Given the description of an element on the screen output the (x, y) to click on. 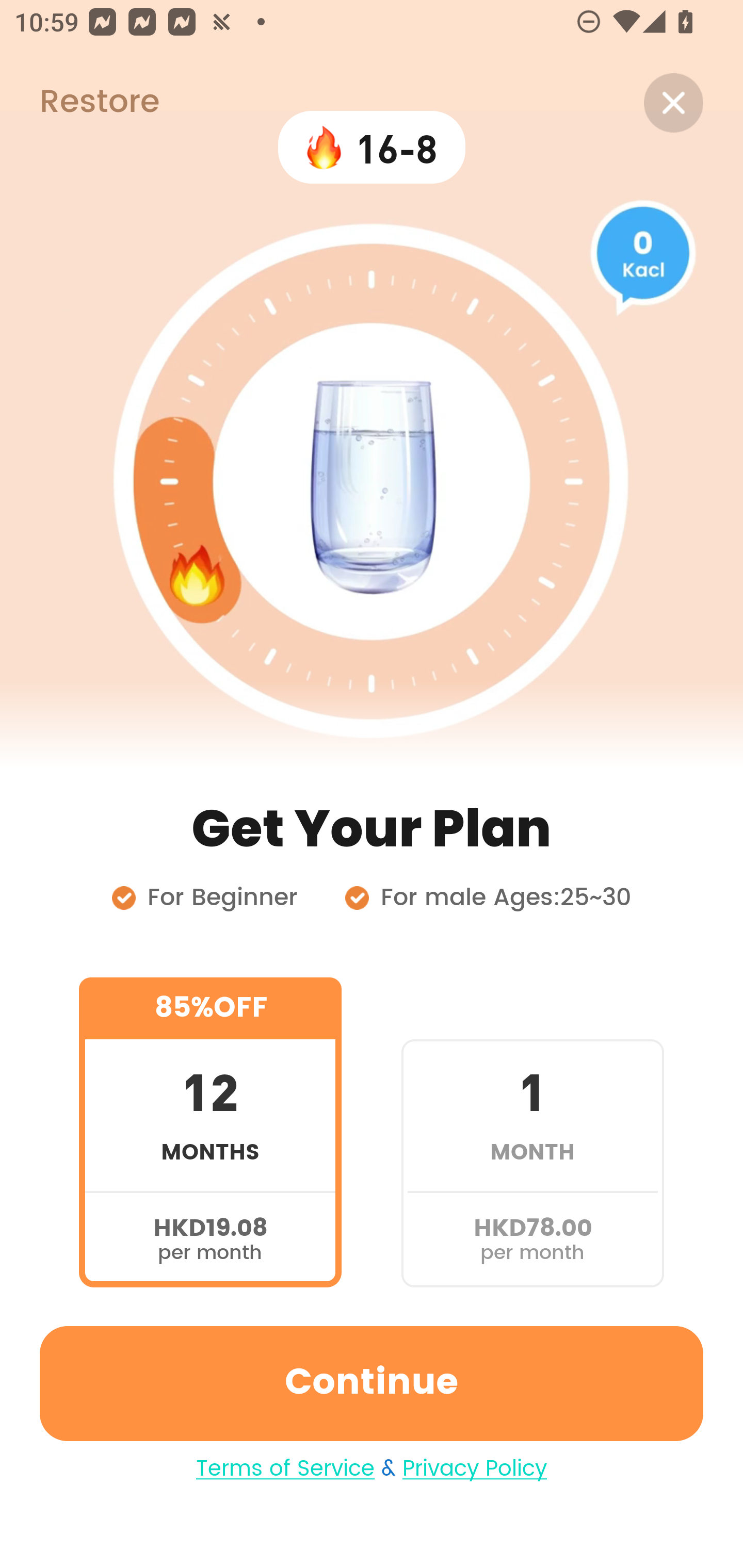
Restore (79, 102)
85%OFF 12 MONTHS per month HKD19.08 (209, 1131)
1 MONTH per month HKD78.00 (532, 1131)
Continue (371, 1383)
